Given the description of an element on the screen output the (x, y) to click on. 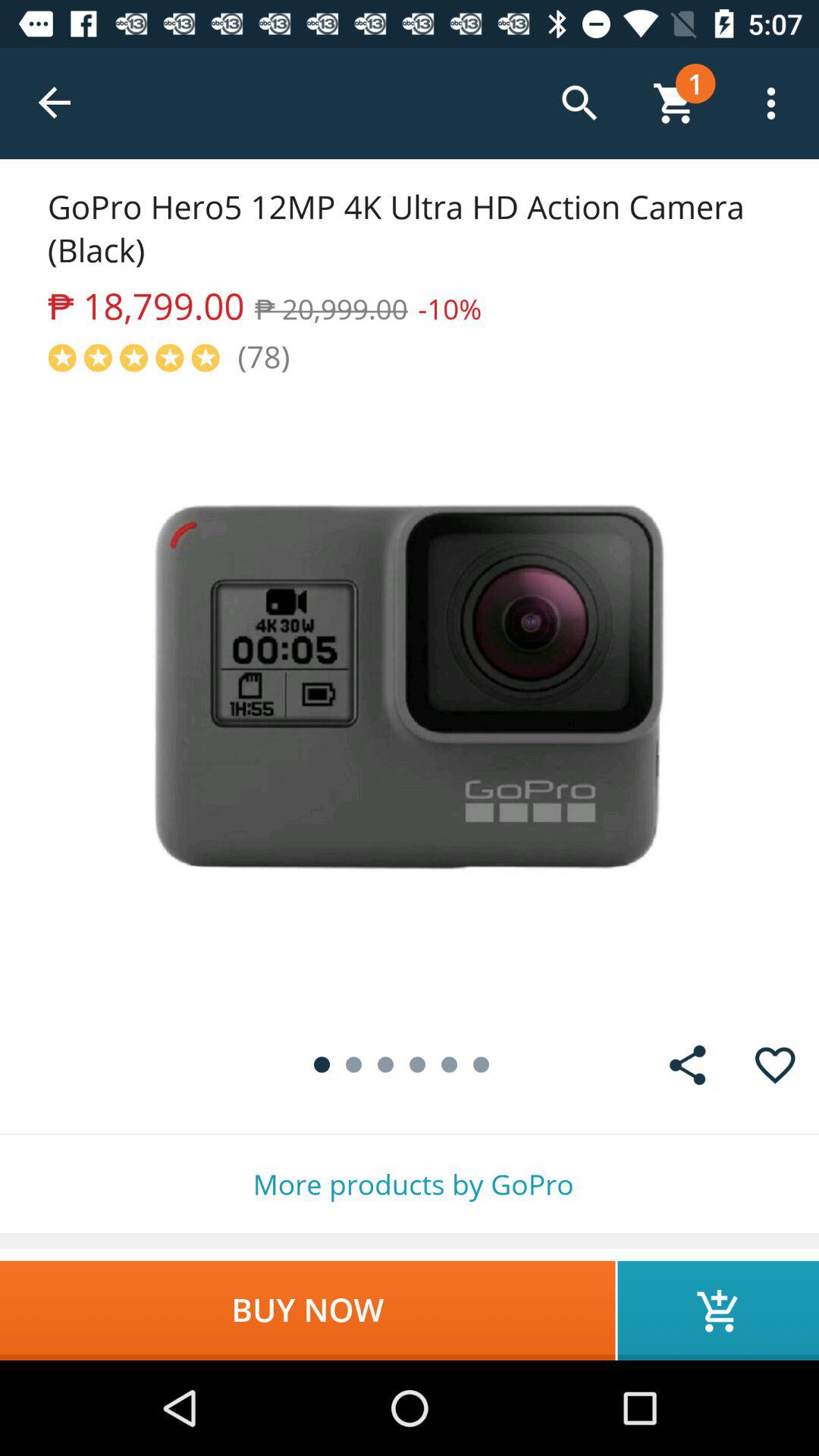
turn off item below more products by (718, 1310)
